Given the description of an element on the screen output the (x, y) to click on. 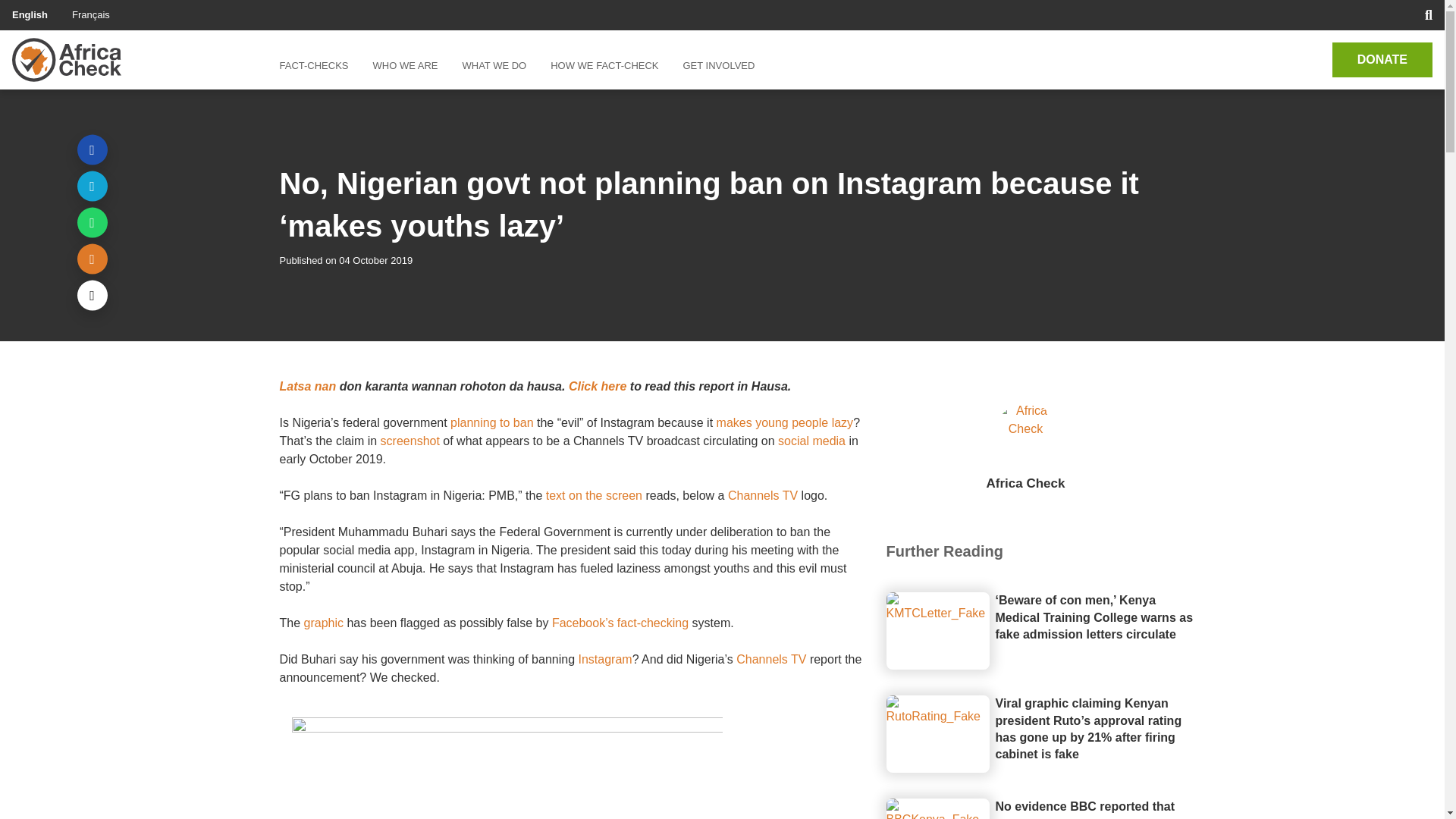
FACT-CHECKS (319, 65)
HOW WE FACT-CHECK (603, 65)
WHAT WE DO (493, 65)
DONATE (1382, 59)
WHO WE ARE (405, 65)
English (29, 14)
GET INVOLVED (718, 65)
